Given the description of an element on the screen output the (x, y) to click on. 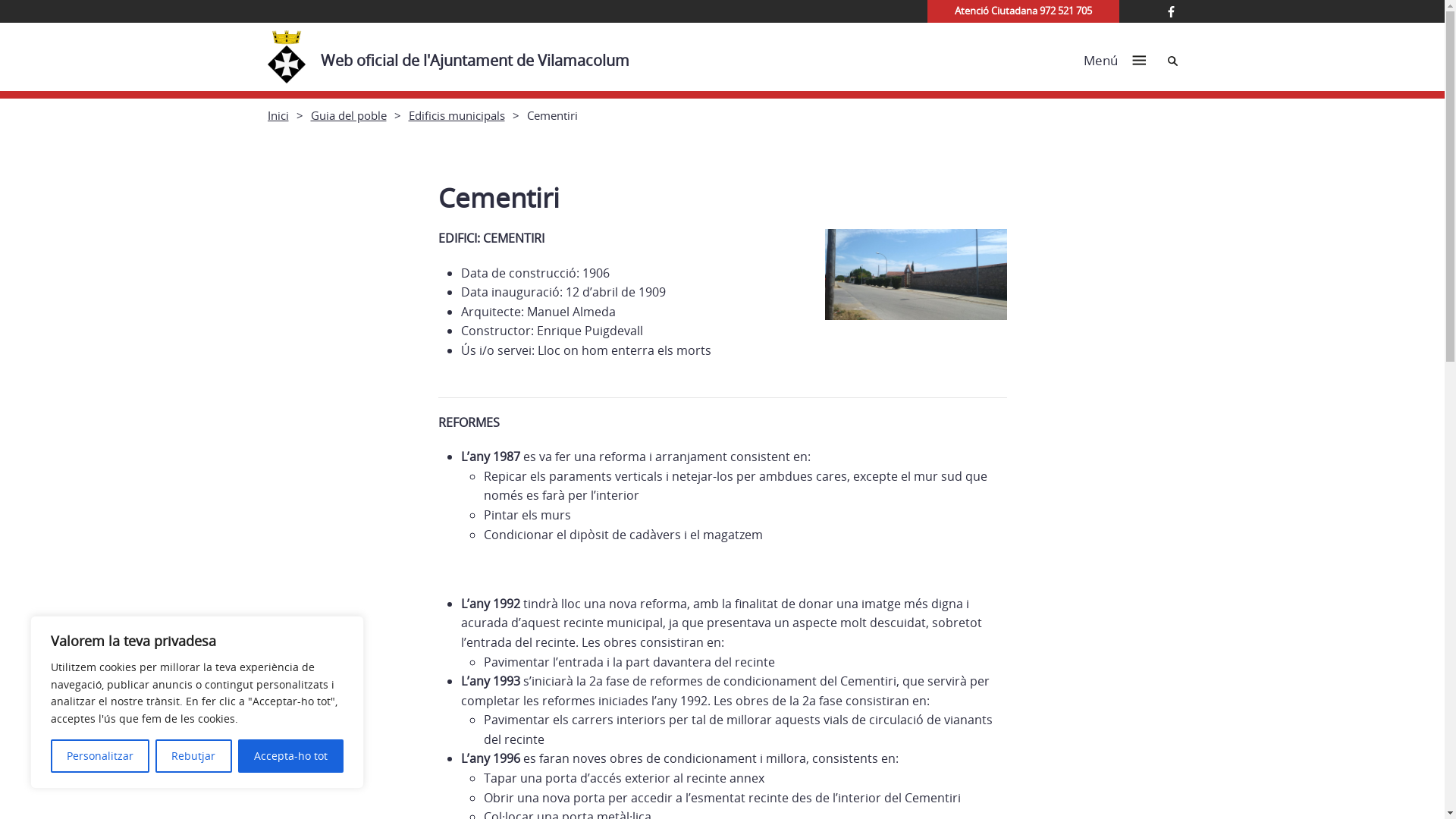
Edificis municipals Element type: text (455, 114)
Guia del poble Element type: text (348, 114)
Inici Element type: text (277, 114)
Web oficial de l'Ajuntament de Vilamacolum Element type: text (454, 56)
Cerca Element type: text (1172, 60)
